Given the description of an element on the screen output the (x, y) to click on. 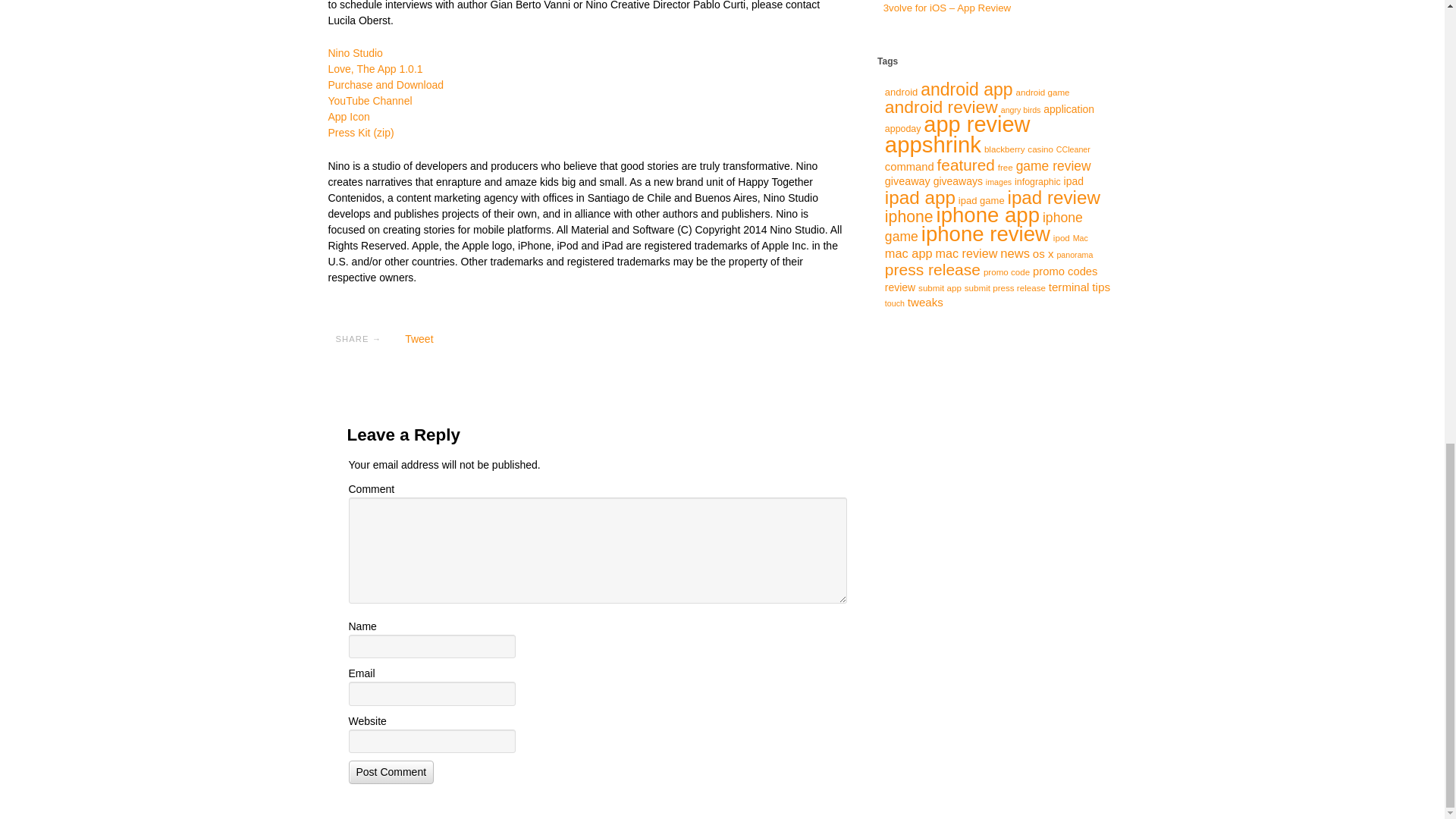
Post Comment (391, 771)
Purchase and Download (385, 84)
App Icon (348, 116)
Love, The App 1.0.1 (374, 69)
App Icon (348, 116)
Love, The App 1.0.1 (374, 69)
Nino Studio (354, 52)
YouTube Channel (369, 101)
Purchase and Download (385, 84)
YouTube Channel (369, 101)
